Given the description of an element on the screen output the (x, y) to click on. 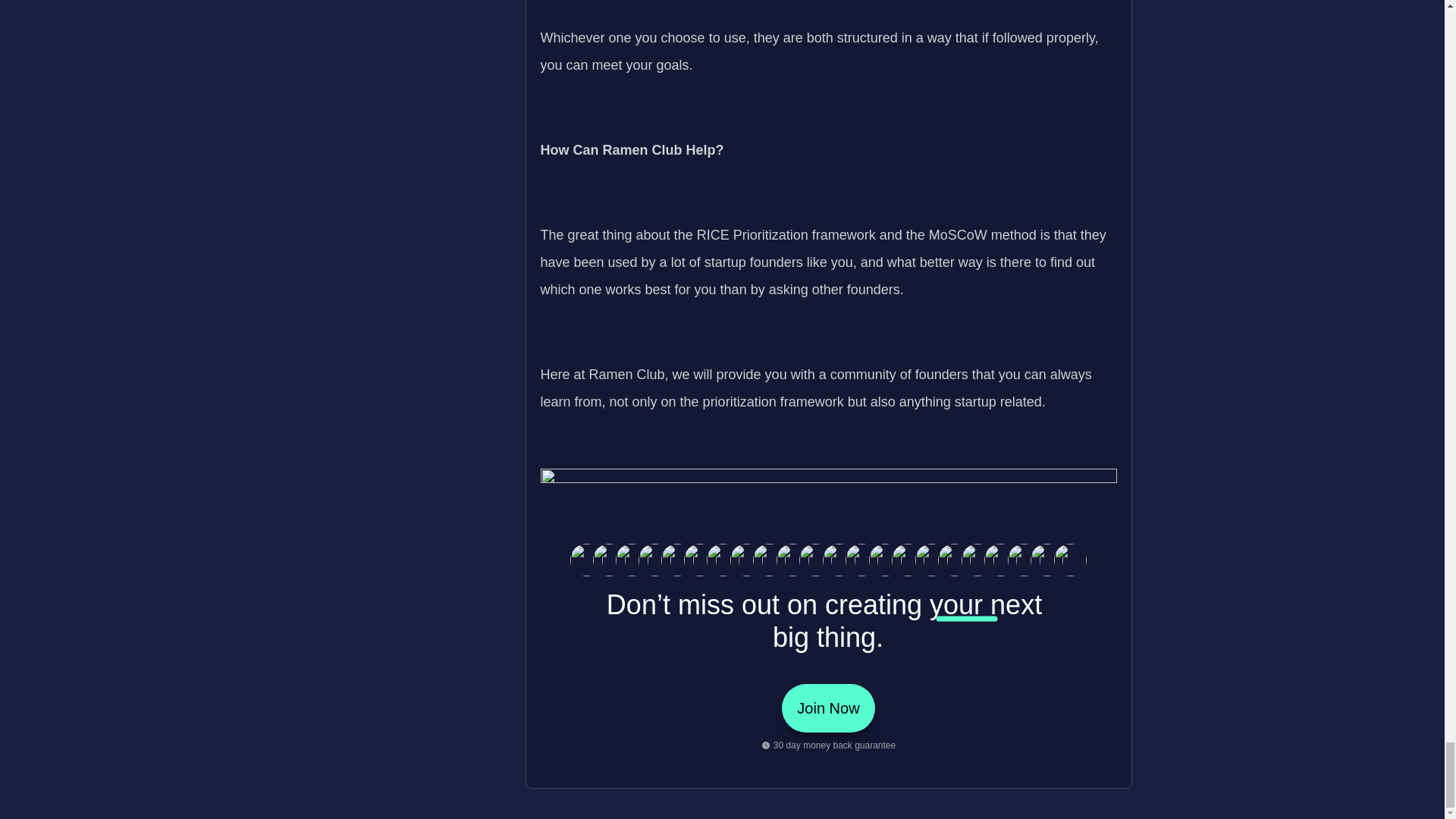
Join Now (828, 707)
